Given the description of an element on the screen output the (x, y) to click on. 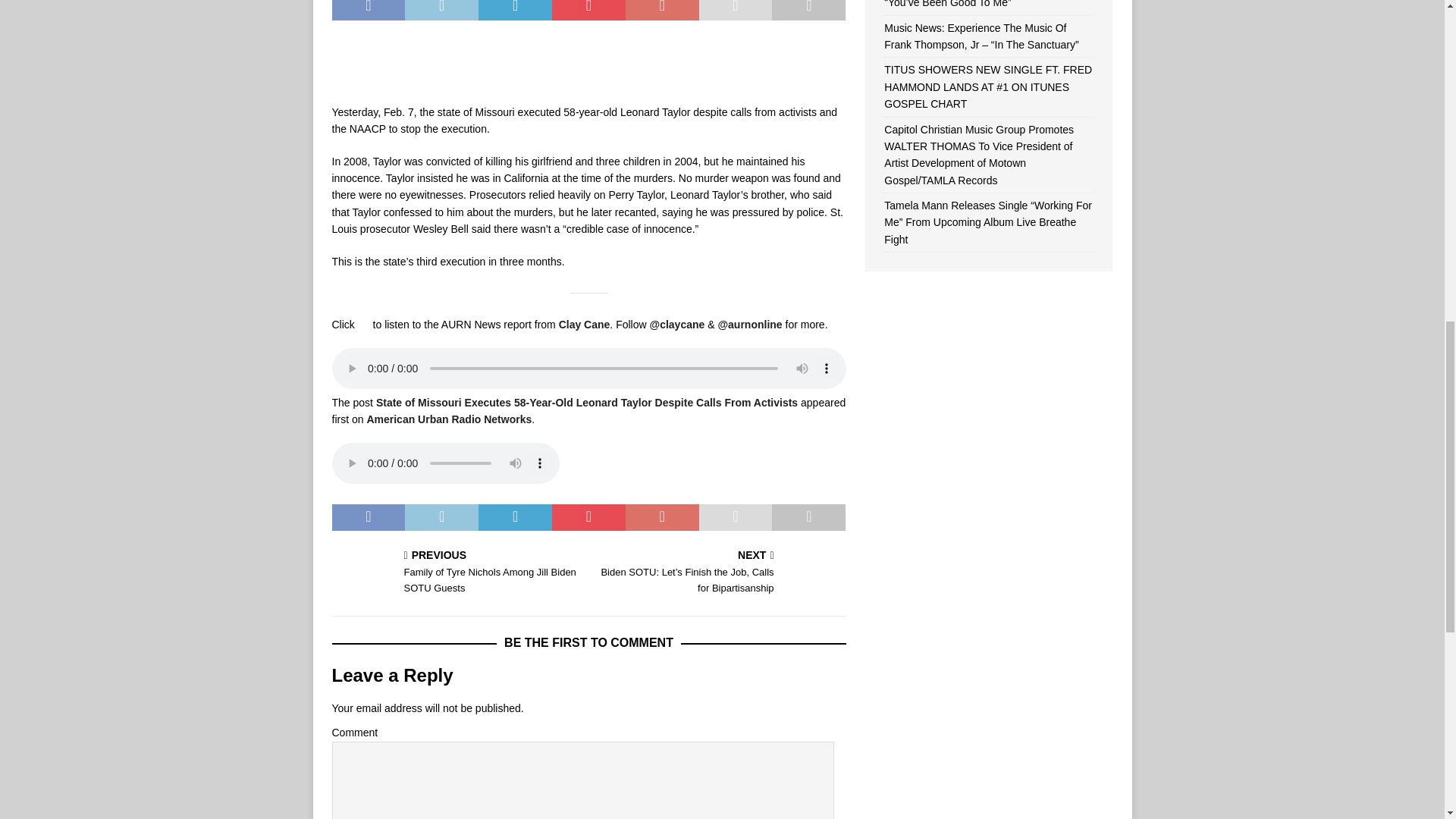
Clay Cane (584, 324)
